Given the description of an element on the screen output the (x, y) to click on. 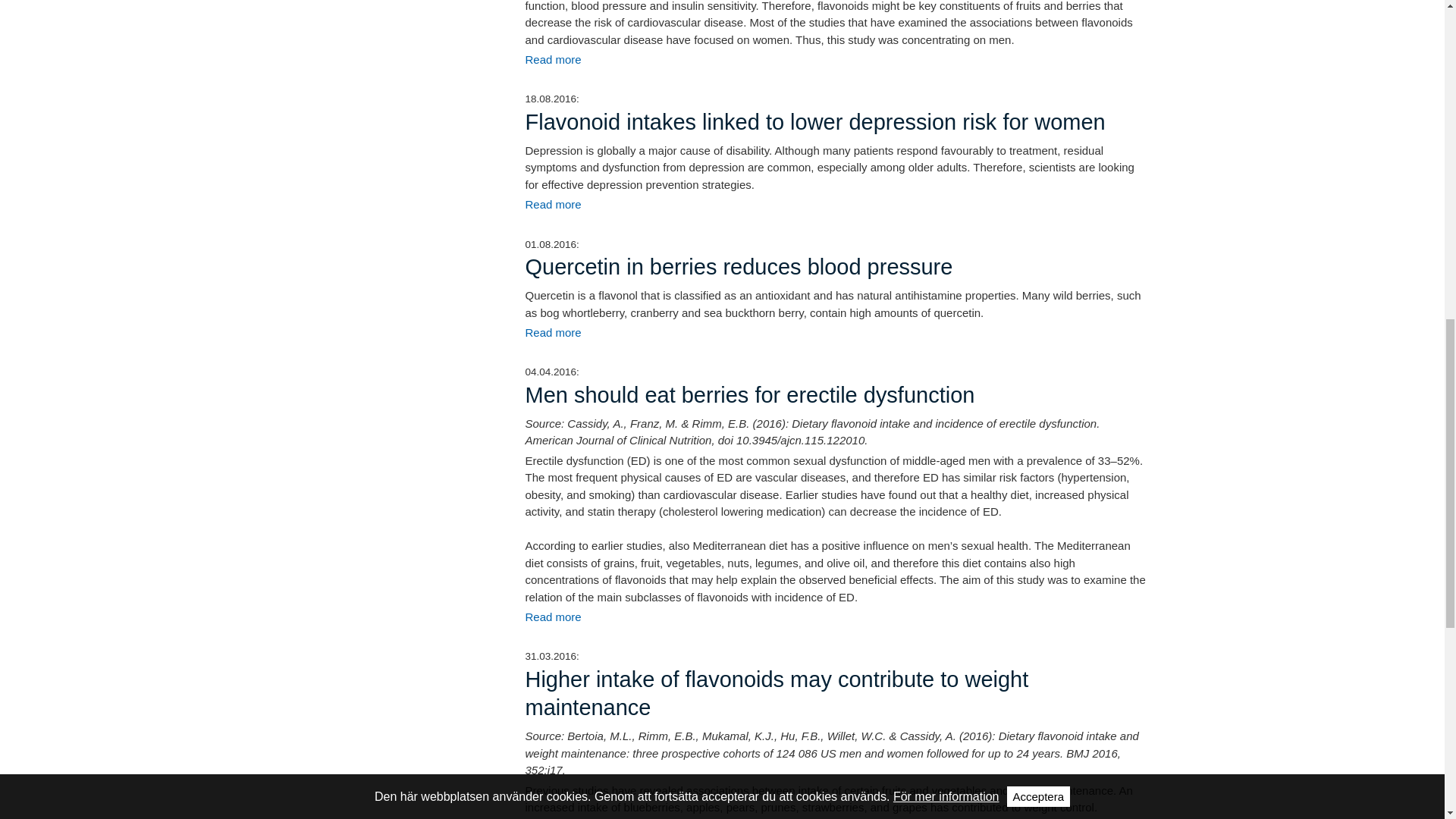
Quercetin in berries reduces blood pressure (552, 332)
Flavonoid intakes linked to lower depression risk for women (552, 204)
Men should eat berries for erectile dysfunction (552, 616)
